Given the description of an element on the screen output the (x, y) to click on. 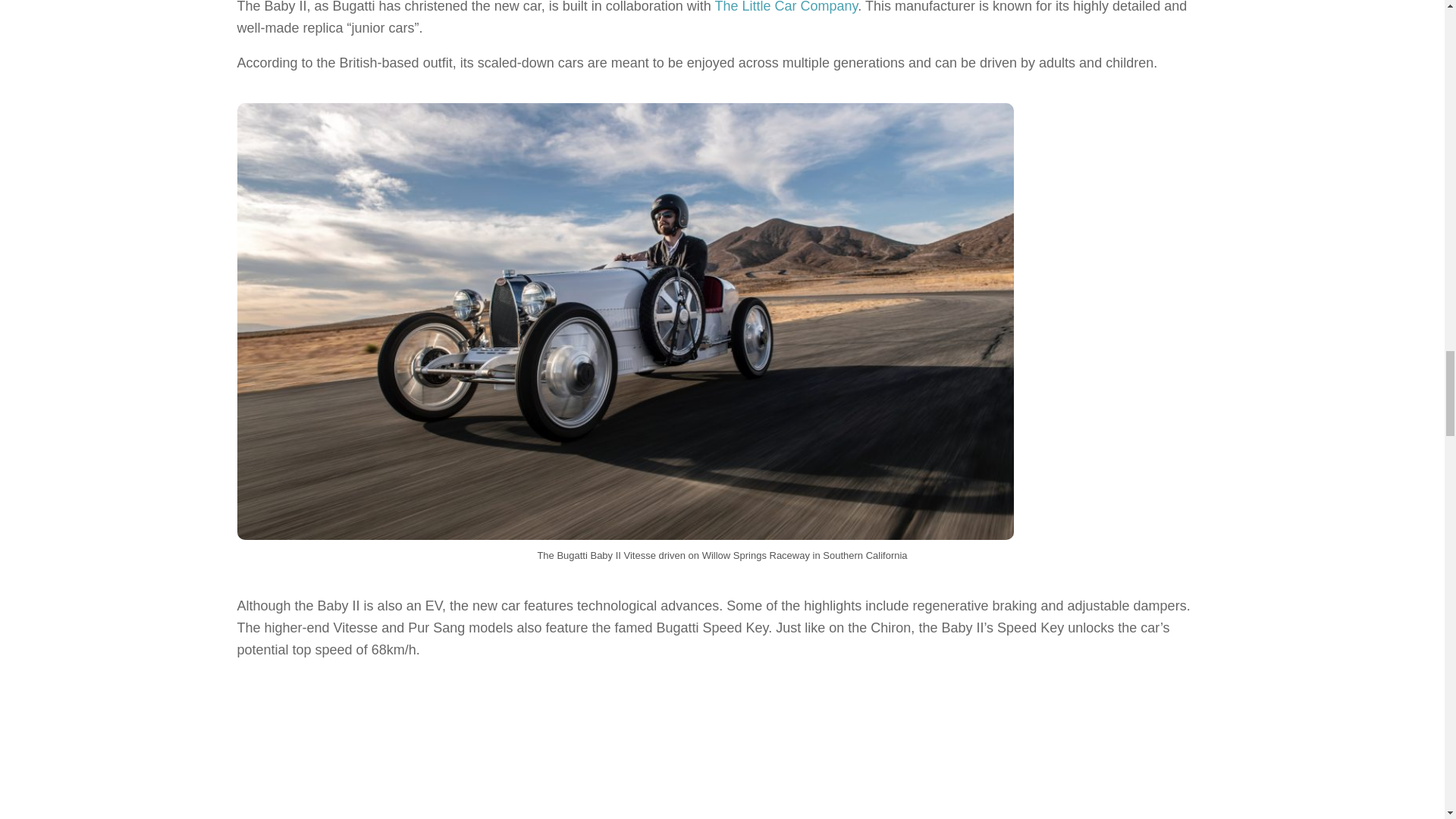
The Little Car Company (786, 6)
